Given the description of an element on the screen output the (x, y) to click on. 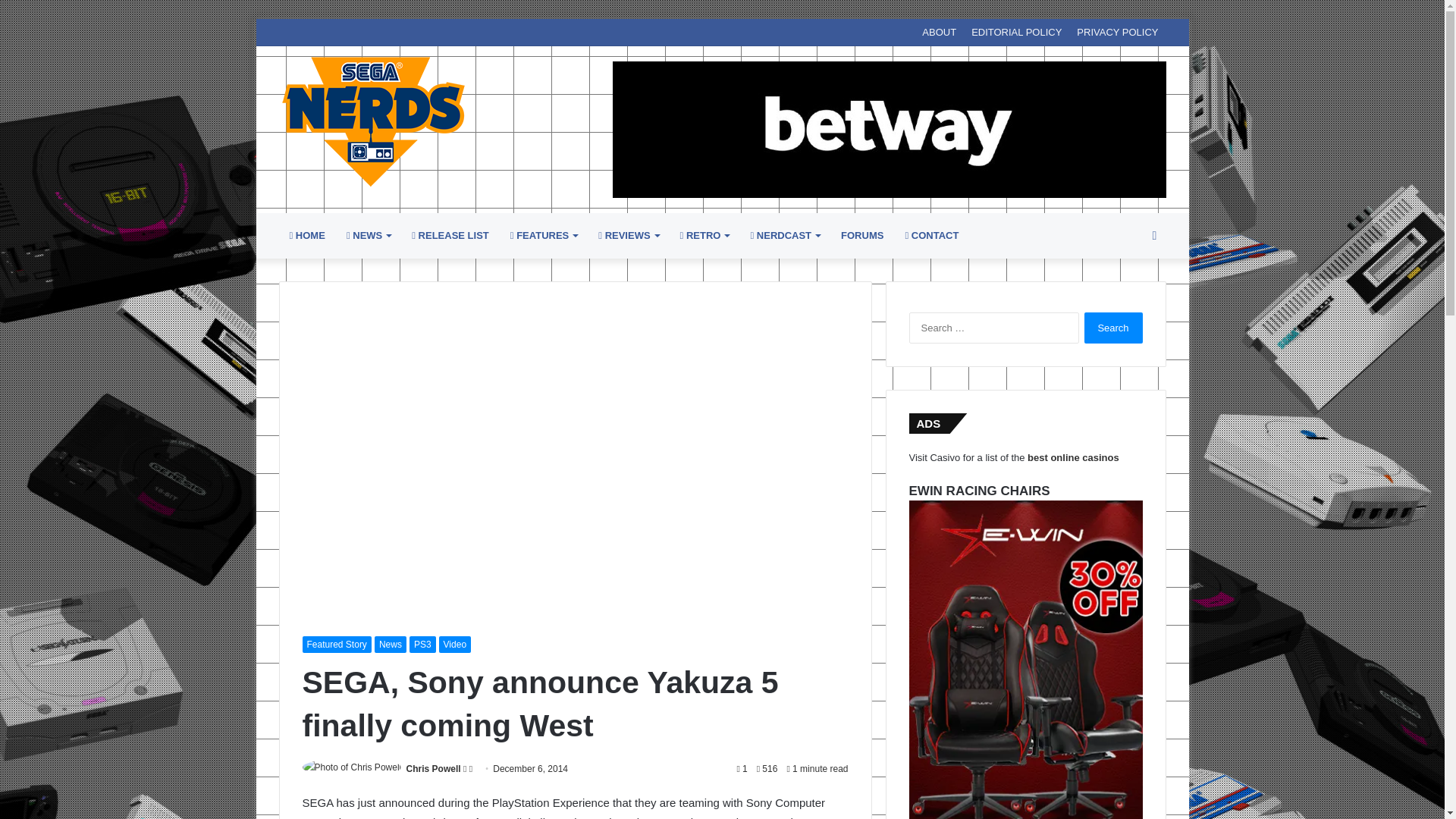
EDITORIAL POLICY (1015, 31)
Video (454, 644)
Chris Powell (433, 768)
Search (1113, 327)
PS3 (422, 644)
PRIVACY POLICY (1117, 31)
Search (1113, 327)
Featured Story (336, 644)
NEWS (368, 235)
HOME (307, 235)
